Given the description of an element on the screen output the (x, y) to click on. 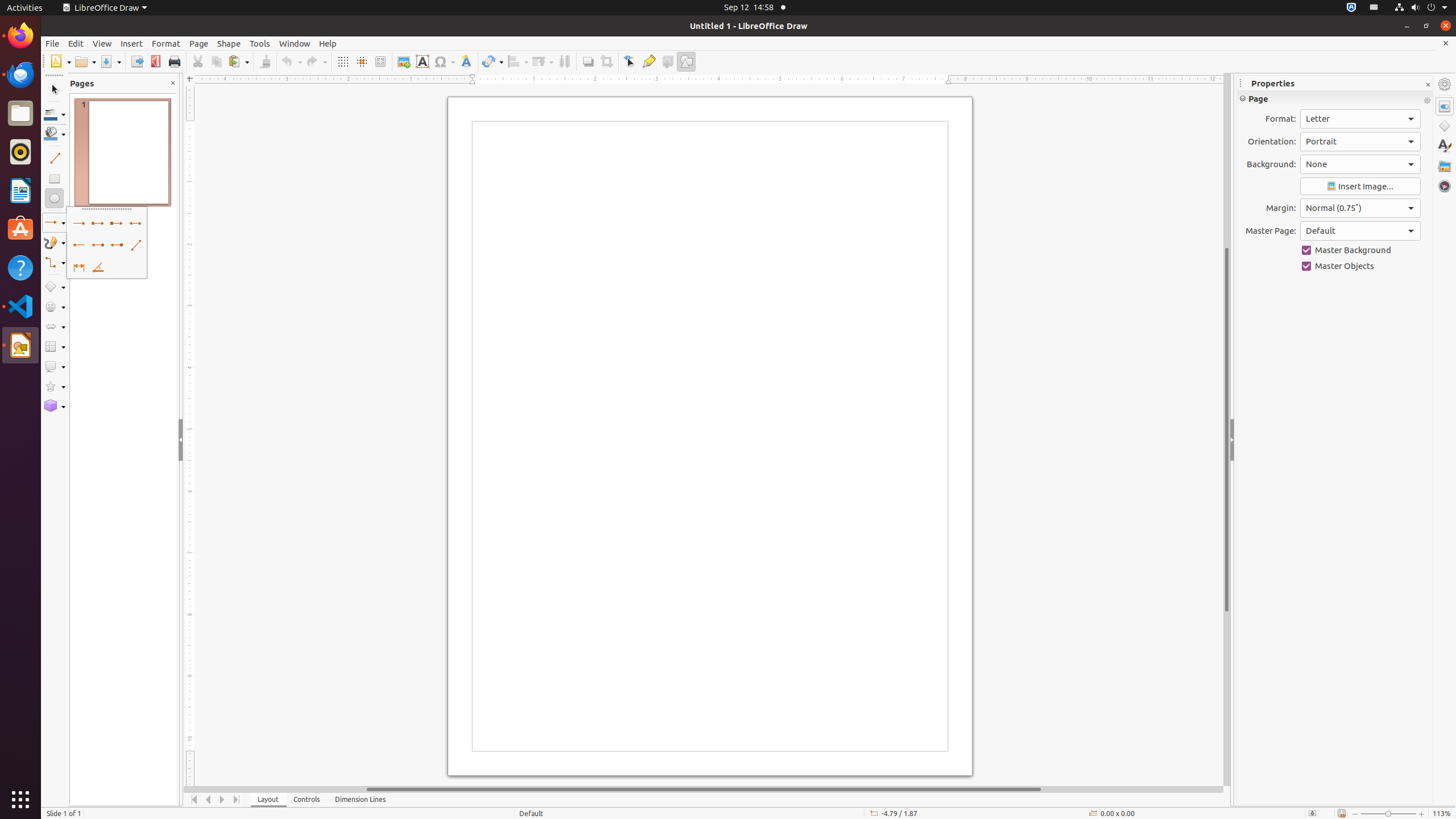
Symbol Element type: push-button (443, 61)
Shape Element type: menu (228, 43)
Shapes Element type: radio-button (1444, 126)
Move To End Element type: push-button (236, 799)
Layout Element type: page-tab (268, 799)
